Given the description of an element on the screen output the (x, y) to click on. 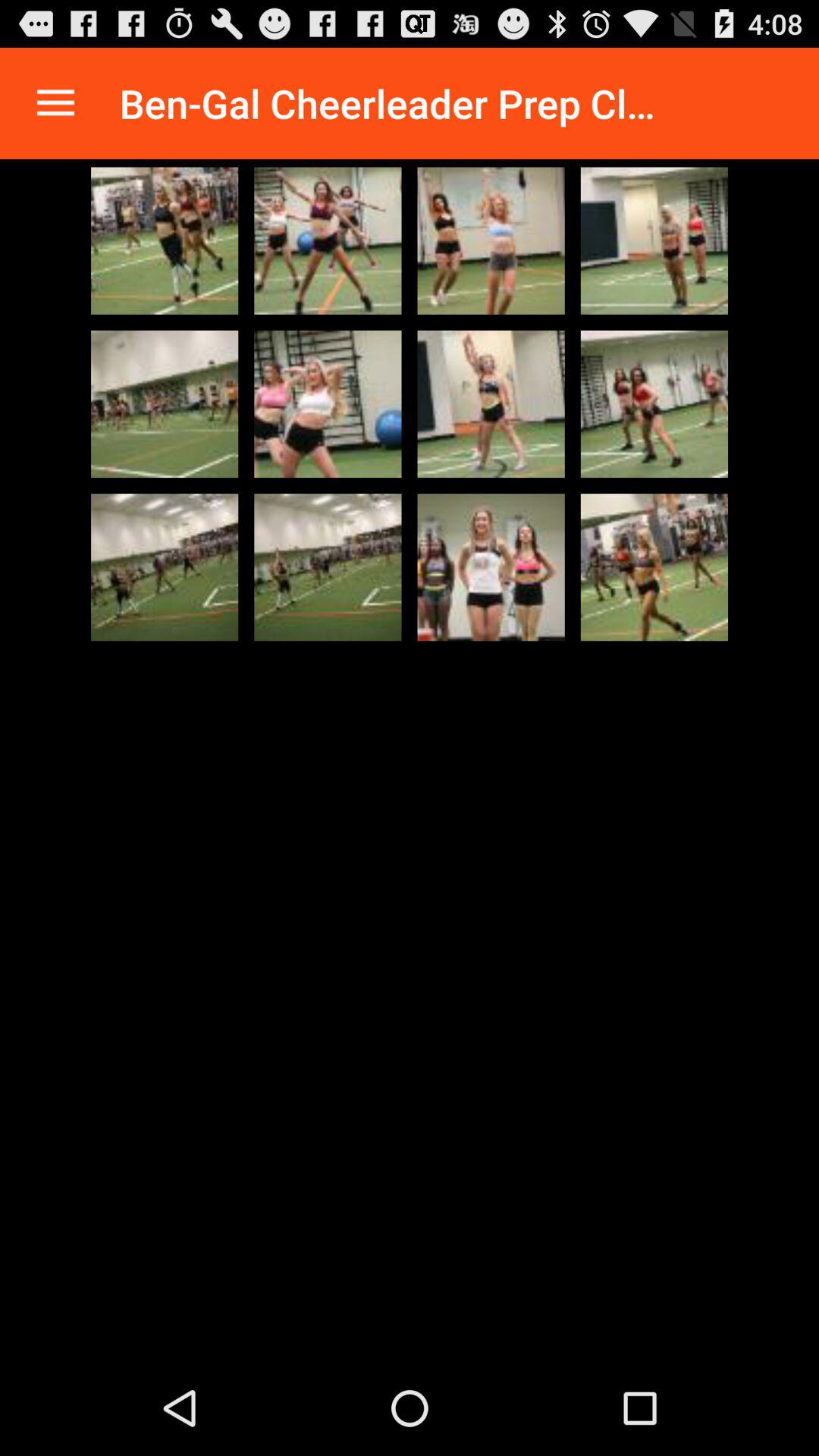
tap item next to the ben gal cheerleader item (55, 103)
